Given the description of an element on the screen output the (x, y) to click on. 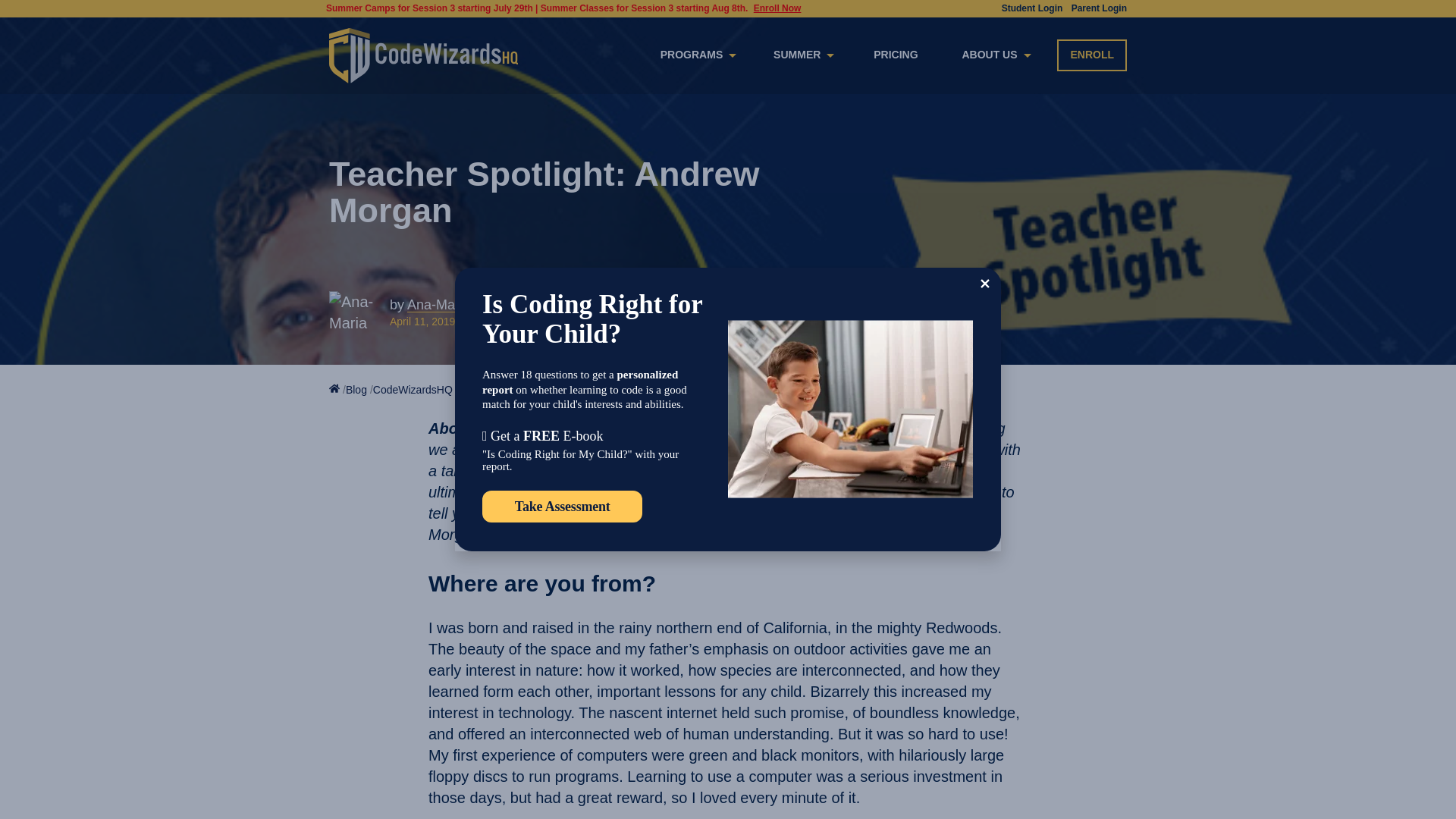
Enroll Now (778, 8)
ABOUT US (993, 55)
Ana-Maria (438, 304)
PRICING (895, 55)
CodeWizardsHQ Community (440, 390)
Parent Login (1098, 8)
Blog (356, 390)
SUMMER (801, 55)
ENROLL (1091, 55)
PROGRAMS (695, 55)
Take Assessment (561, 506)
Student Login (1031, 8)
Close (984, 283)
